Given the description of an element on the screen output the (x, y) to click on. 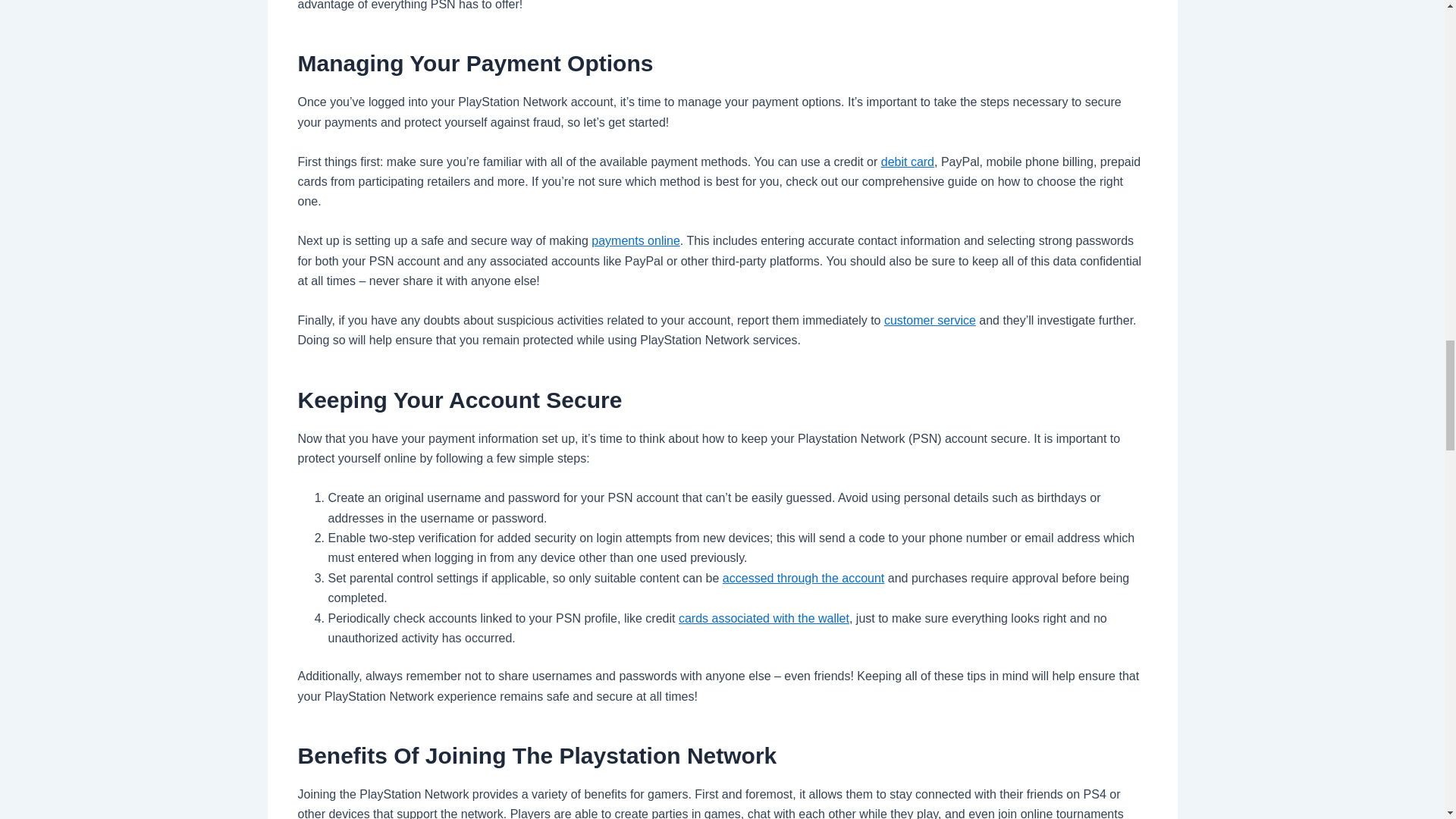
accessed through the account (802, 577)
customer service (929, 319)
payments online (635, 240)
cards associated with the wallet (763, 617)
debit card (907, 160)
